Given the description of an element on the screen output the (x, y) to click on. 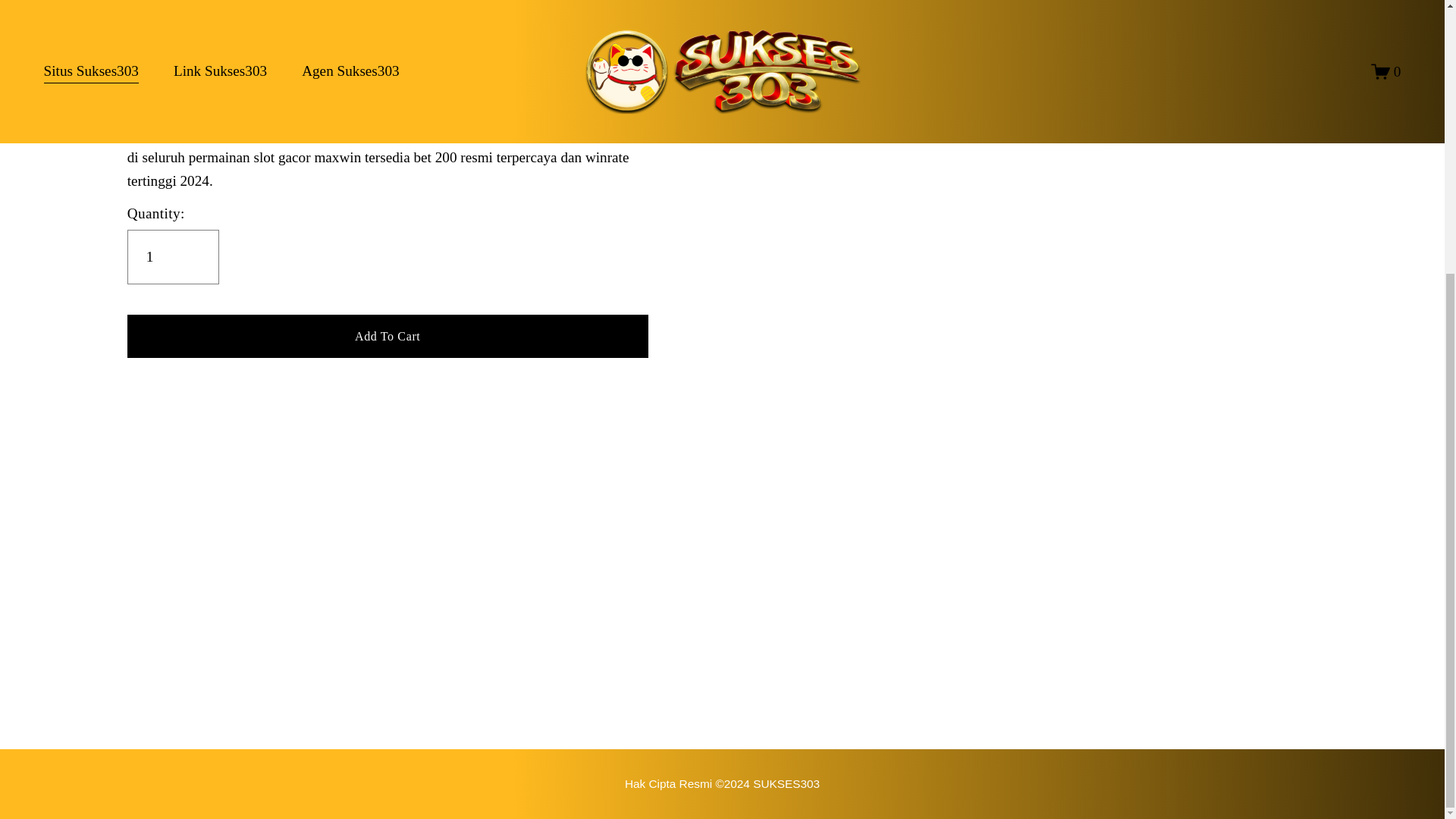
Daftar Slot Online (721, 783)
Add To Cart (387, 335)
1 (173, 257)
